Given the description of an element on the screen output the (x, y) to click on. 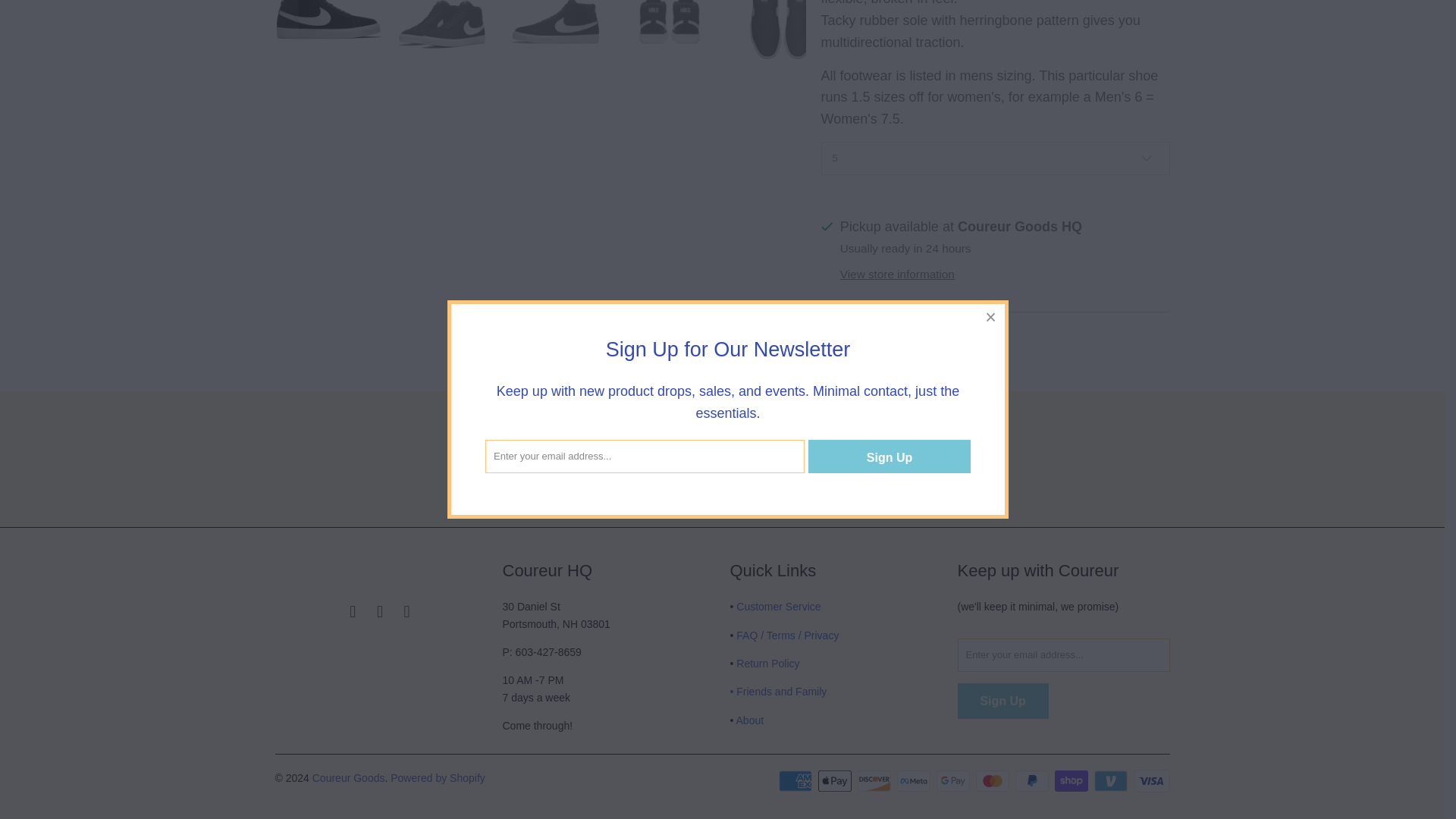
Visa (1150, 780)
Mastercard (993, 780)
Shop Pay (1072, 780)
Discover (875, 780)
Google Pay (954, 780)
Venmo (1112, 780)
Apple Pay (836, 780)
Meta Pay (914, 780)
American Express (796, 780)
PayPal (1032, 780)
